Given the description of an element on the screen output the (x, y) to click on. 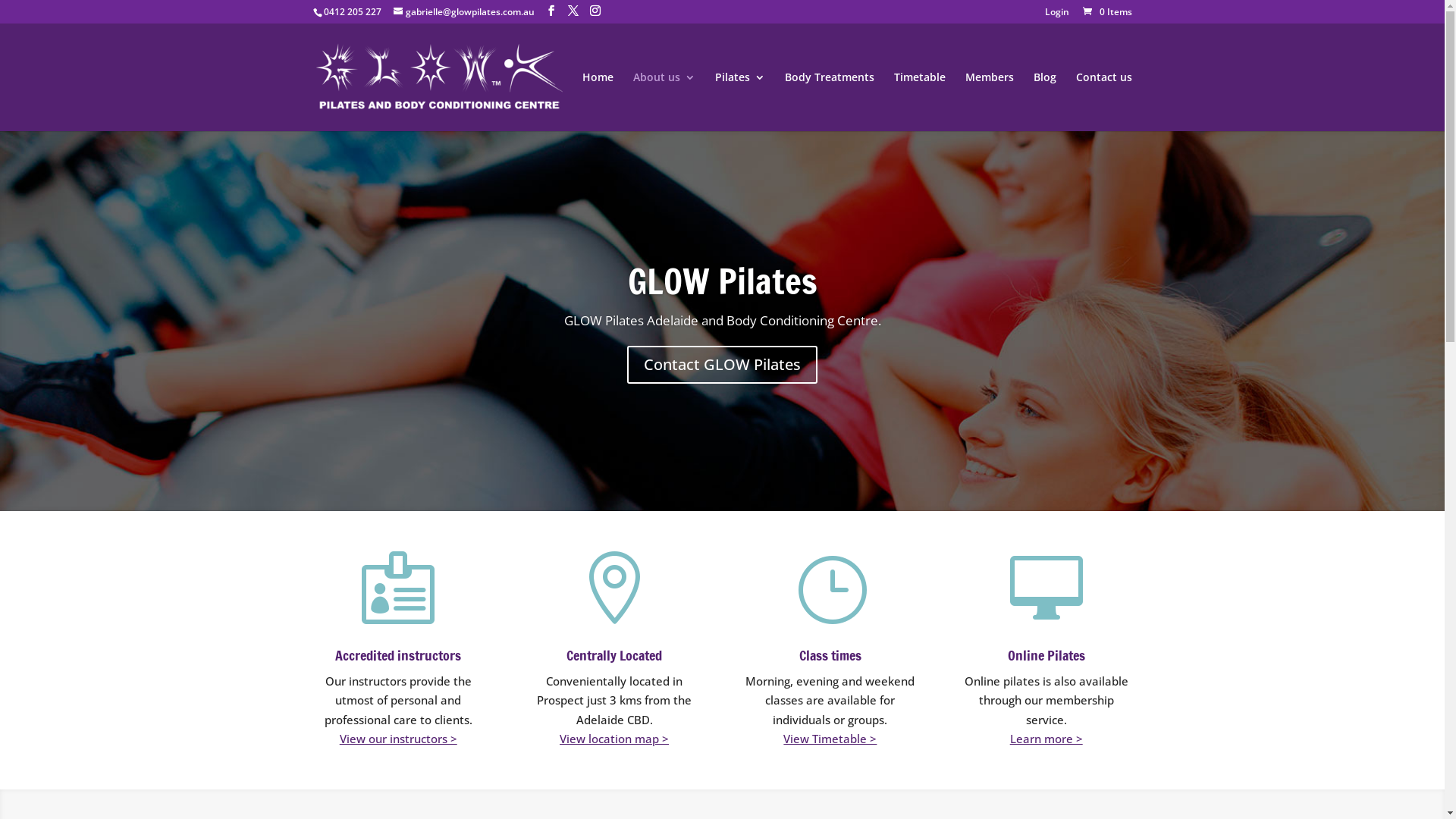
Contact us Element type: text (1103, 101)
Online Pilates Element type: text (1046, 655)
Body Treatments Element type: text (828, 101)
Blog Element type: text (1043, 101)
View Timetable > Element type: text (829, 738)
Class times Element type: text (830, 655)
View our instructors > Element type: text (398, 738)
Learn more > Element type: text (1046, 738)
0 Items Element type: text (1105, 11)
Accredited instructors Element type: text (398, 655)
Centrally Located Element type: text (614, 655)
gabrielle@glowpilates.com.au Element type: text (462, 11)
Members Element type: text (988, 101)
Home Element type: text (597, 101)
View location map > Element type: text (613, 738)
Login Element type: text (1056, 15)
Pilates Element type: text (739, 101)
Contact GLOW Pilates Element type: text (722, 364)
Timetable Element type: text (918, 101)
GLOW Pilates Element type: text (722, 280)
About us Element type: text (663, 101)
